Given the description of an element on the screen output the (x, y) to click on. 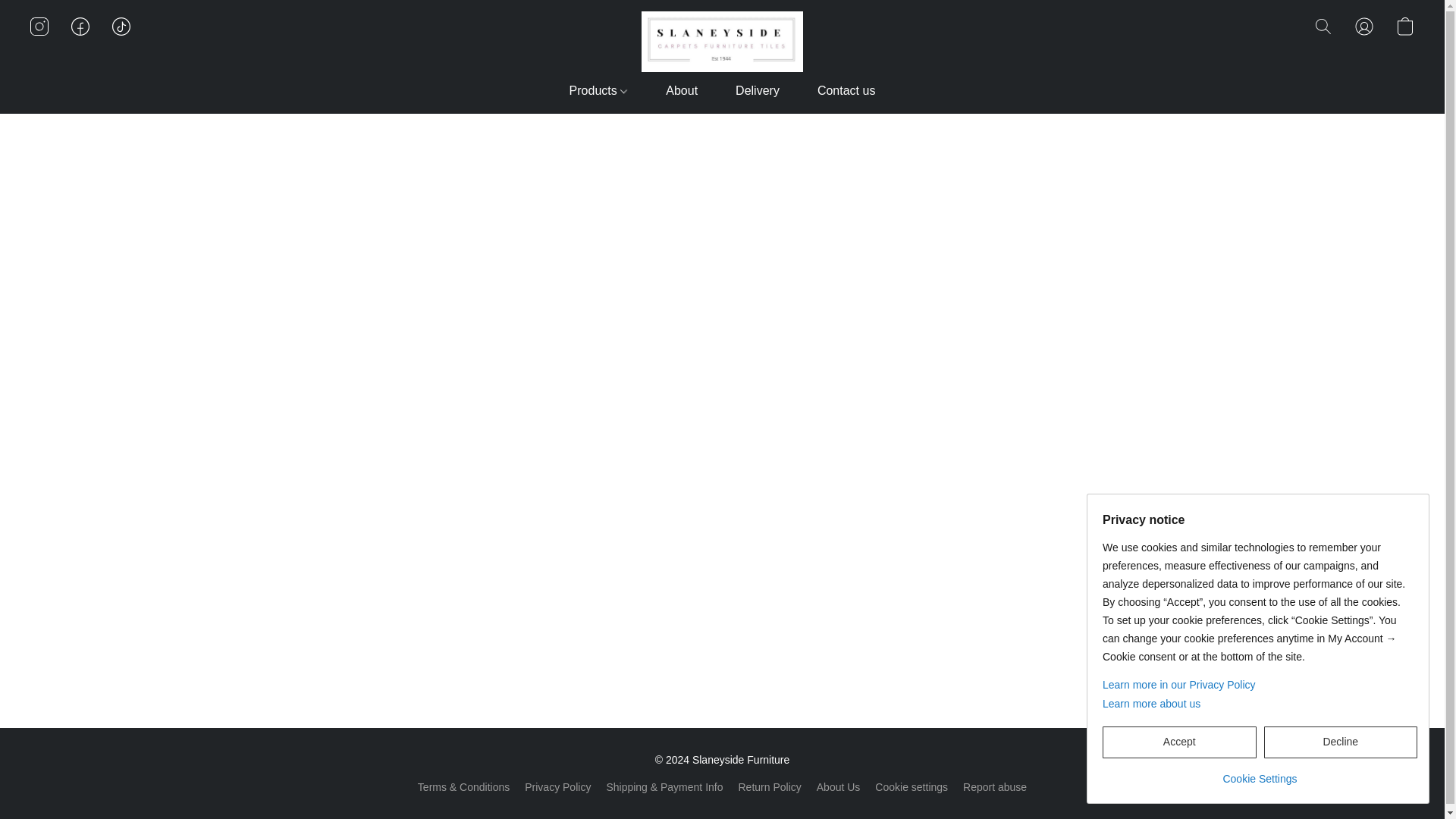
Go to your shopping cart (1404, 26)
Search the website (1323, 26)
Learn more in our Privacy Policy (1259, 684)
Cookie settings (911, 787)
Accept (1179, 742)
Delivery (756, 90)
Cookie Settings (1259, 772)
Contact us (836, 90)
About Us (838, 787)
Report abuse (994, 787)
